Given the description of an element on the screen output the (x, y) to click on. 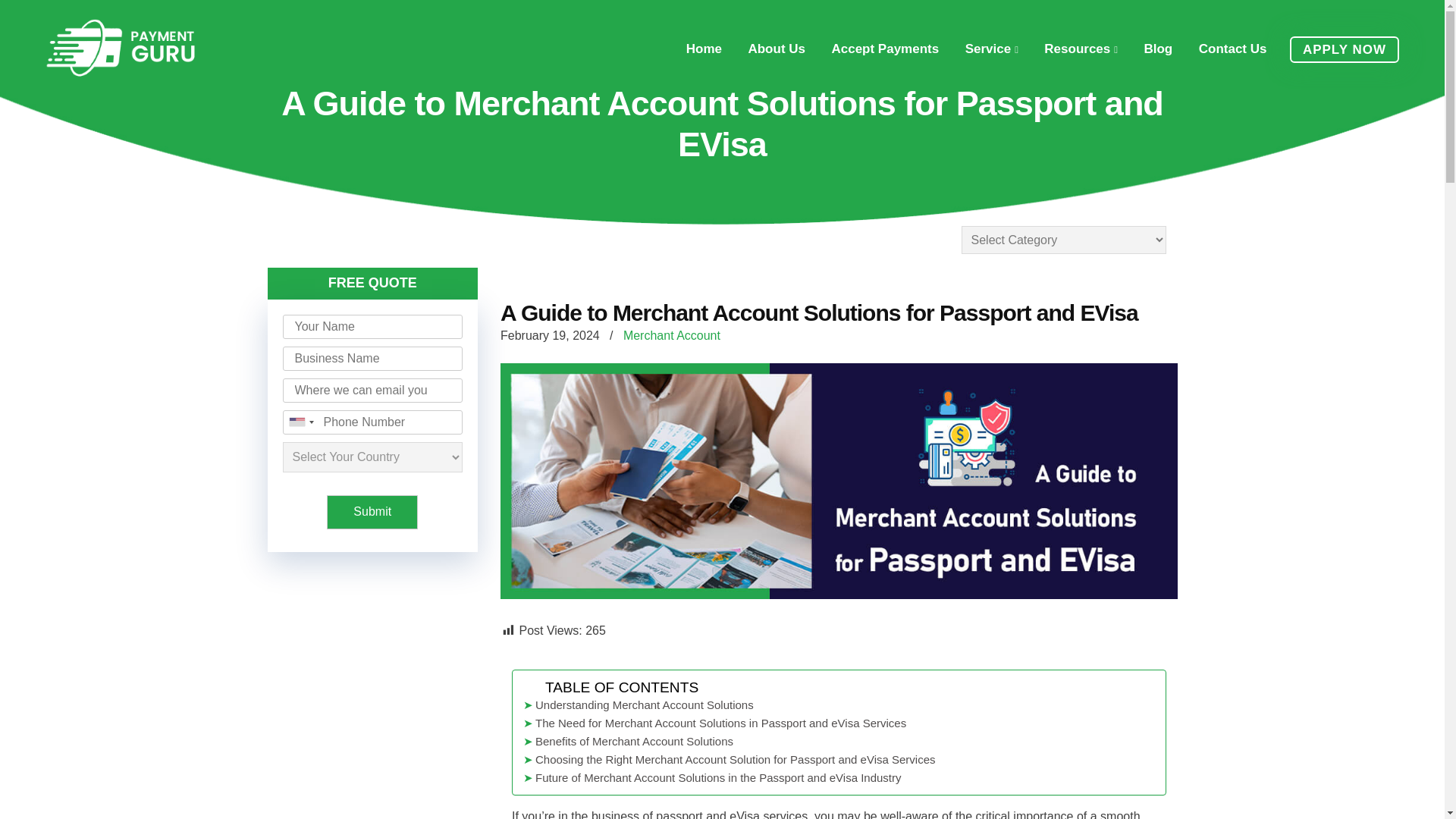
About Us (776, 48)
Submit (371, 512)
Resources (1080, 48)
Understanding Merchant Account Solutions (836, 705)
Accept Payments (884, 48)
Understanding Merchant Account Solutions (836, 705)
